Given the description of an element on the screen output the (x, y) to click on. 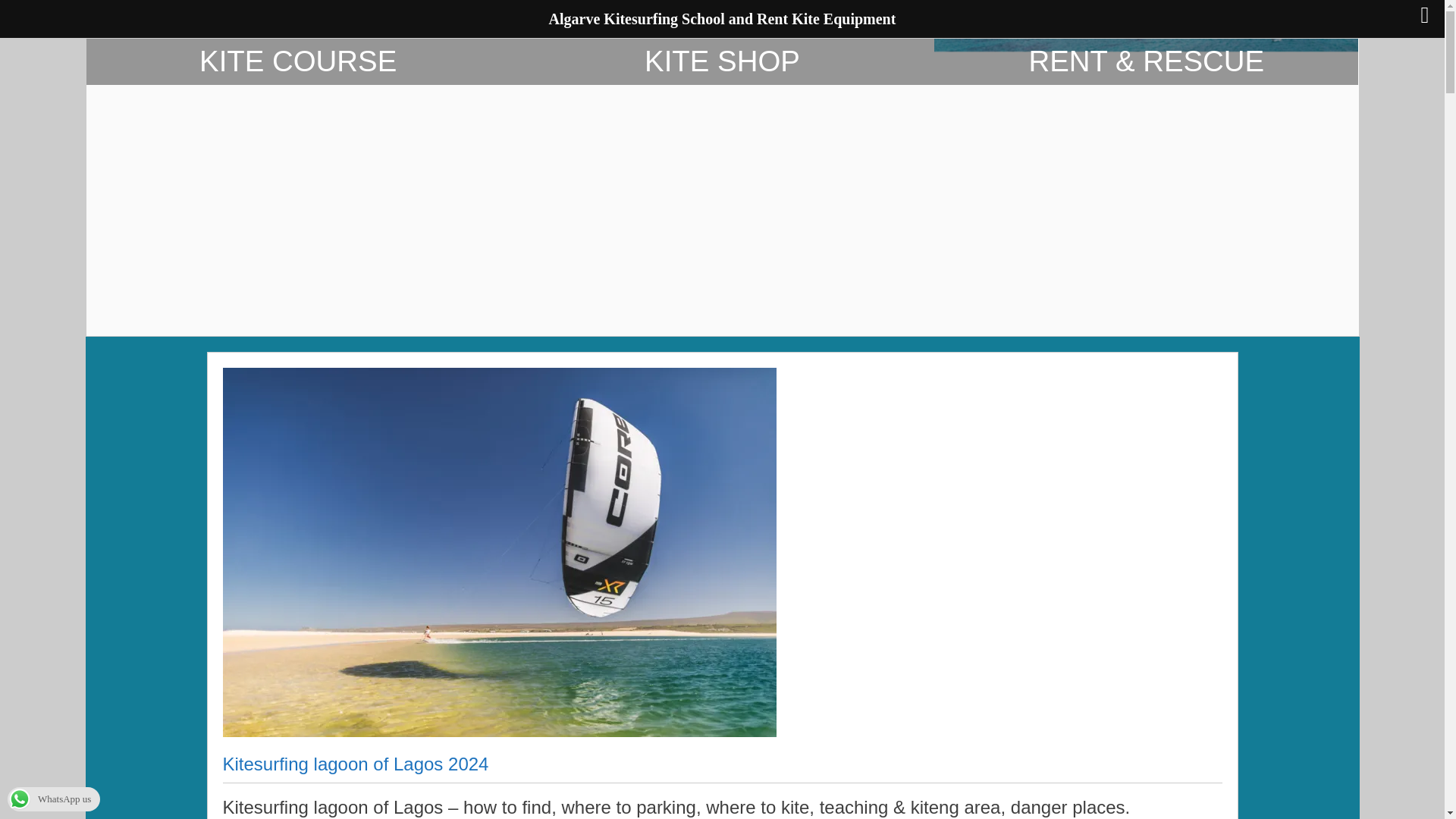
Kitesurfing lagoon of Lagos 2024 (355, 767)
KITE SHOP (722, 186)
KITE COURSE (298, 186)
